Given the description of an element on the screen output the (x, y) to click on. 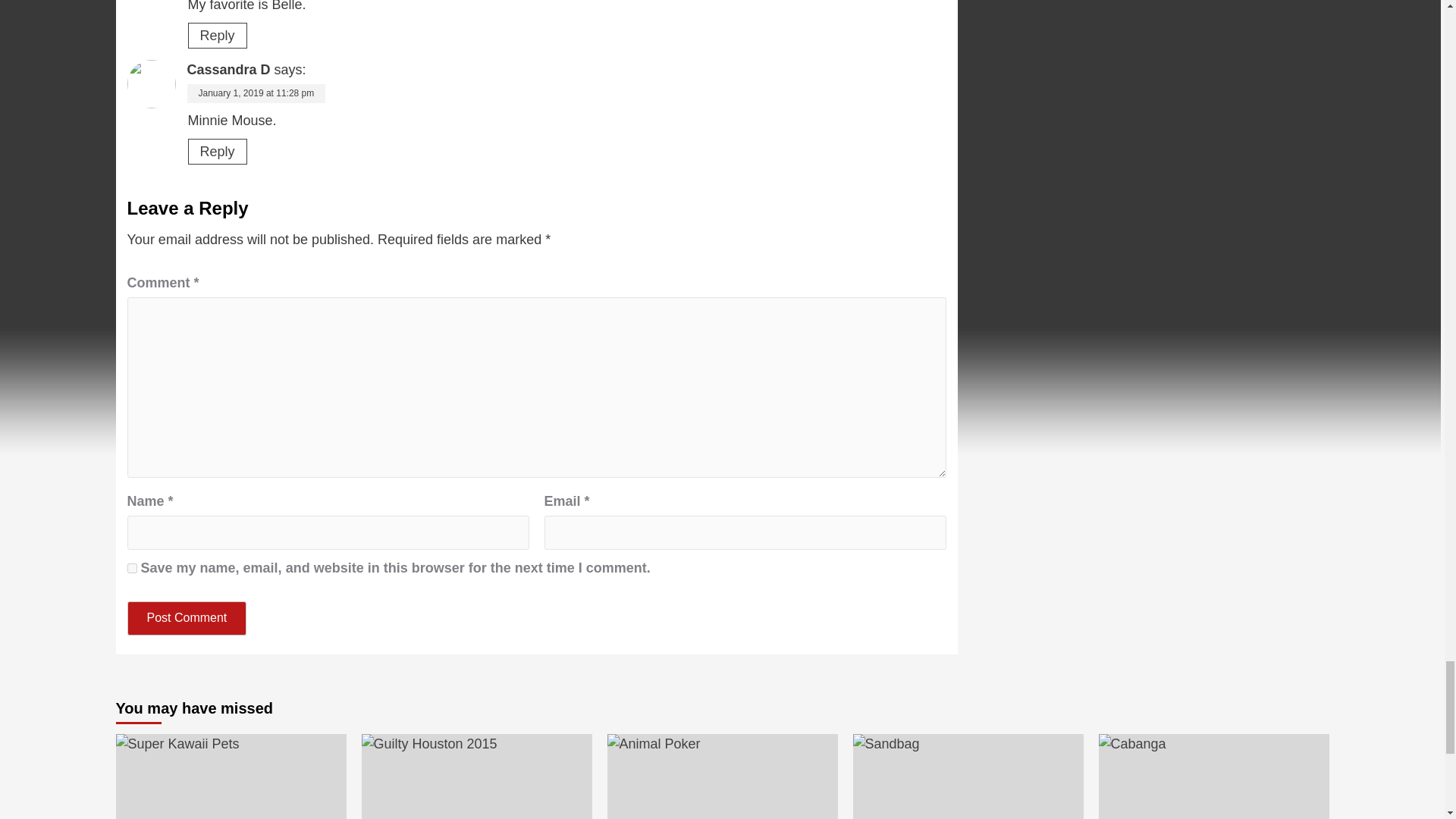
yes (132, 568)
Post Comment (187, 618)
